Given the description of an element on the screen output the (x, y) to click on. 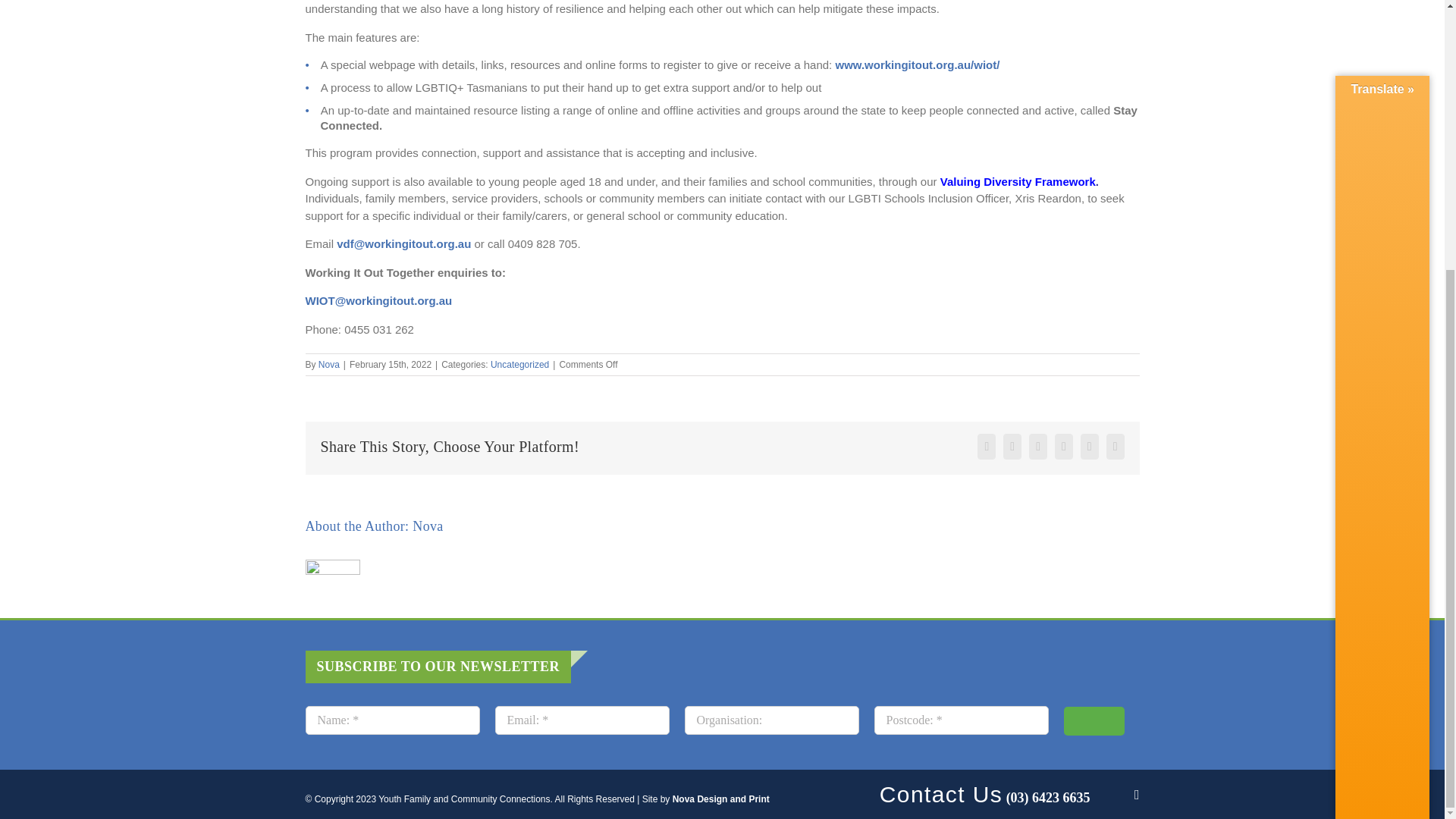
Email: (581, 719)
Subscribe (1093, 720)
Name: (391, 719)
Organisation: (771, 719)
Posts by Nova (328, 364)
Postcode: (960, 719)
Posts by Nova (427, 525)
